Given the description of an element on the screen output the (x, y) to click on. 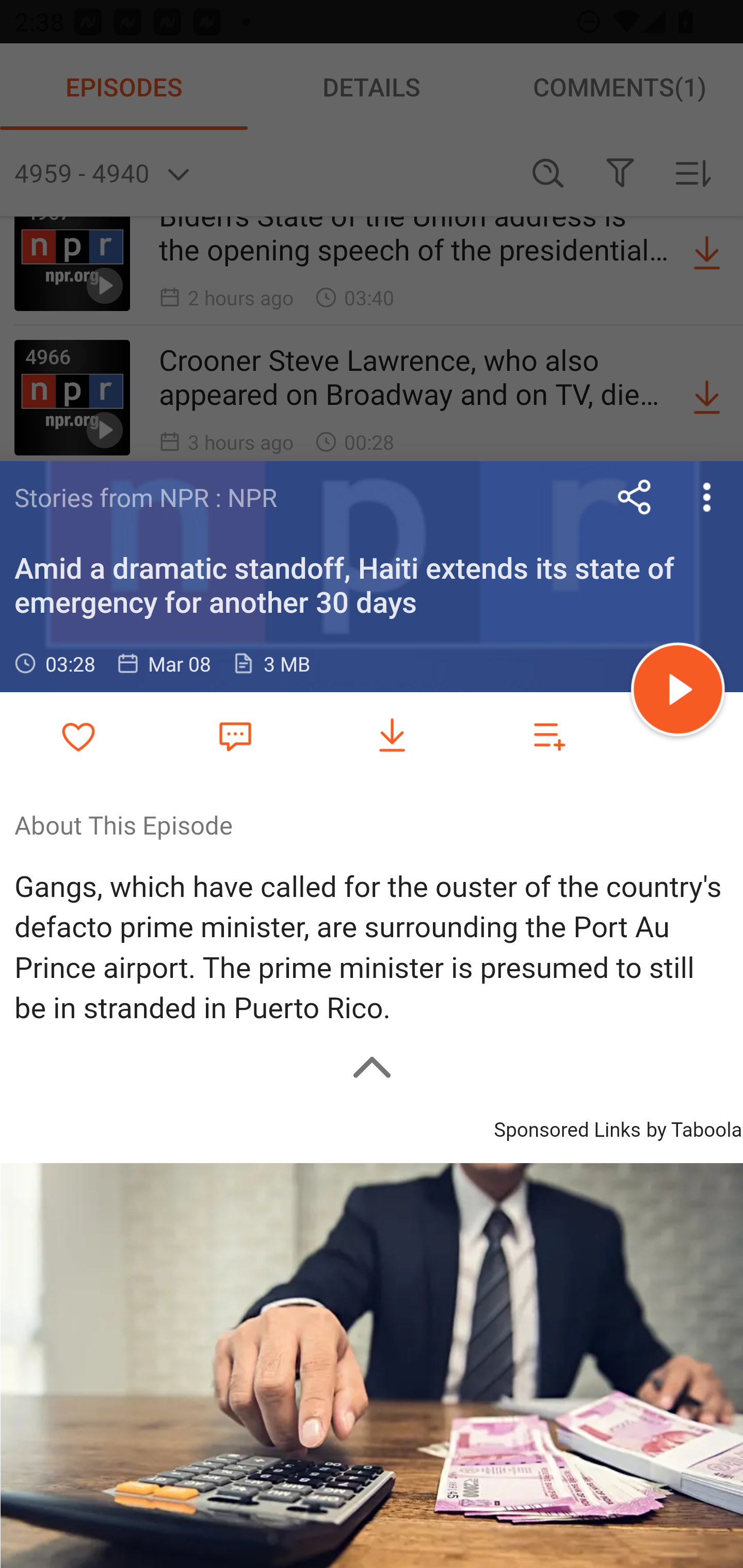
Share (634, 496)
more options (706, 496)
Play (677, 692)
Favorite (234, 735)
Add to Favorites (78, 735)
Download (391, 735)
Add to playlist (548, 735)
Sponsored Links (566, 1126)
by Taboola (693, 1126)
Flexible Loans for Your Personal Needs ASAP (371, 1364)
